Given the description of an element on the screen output the (x, y) to click on. 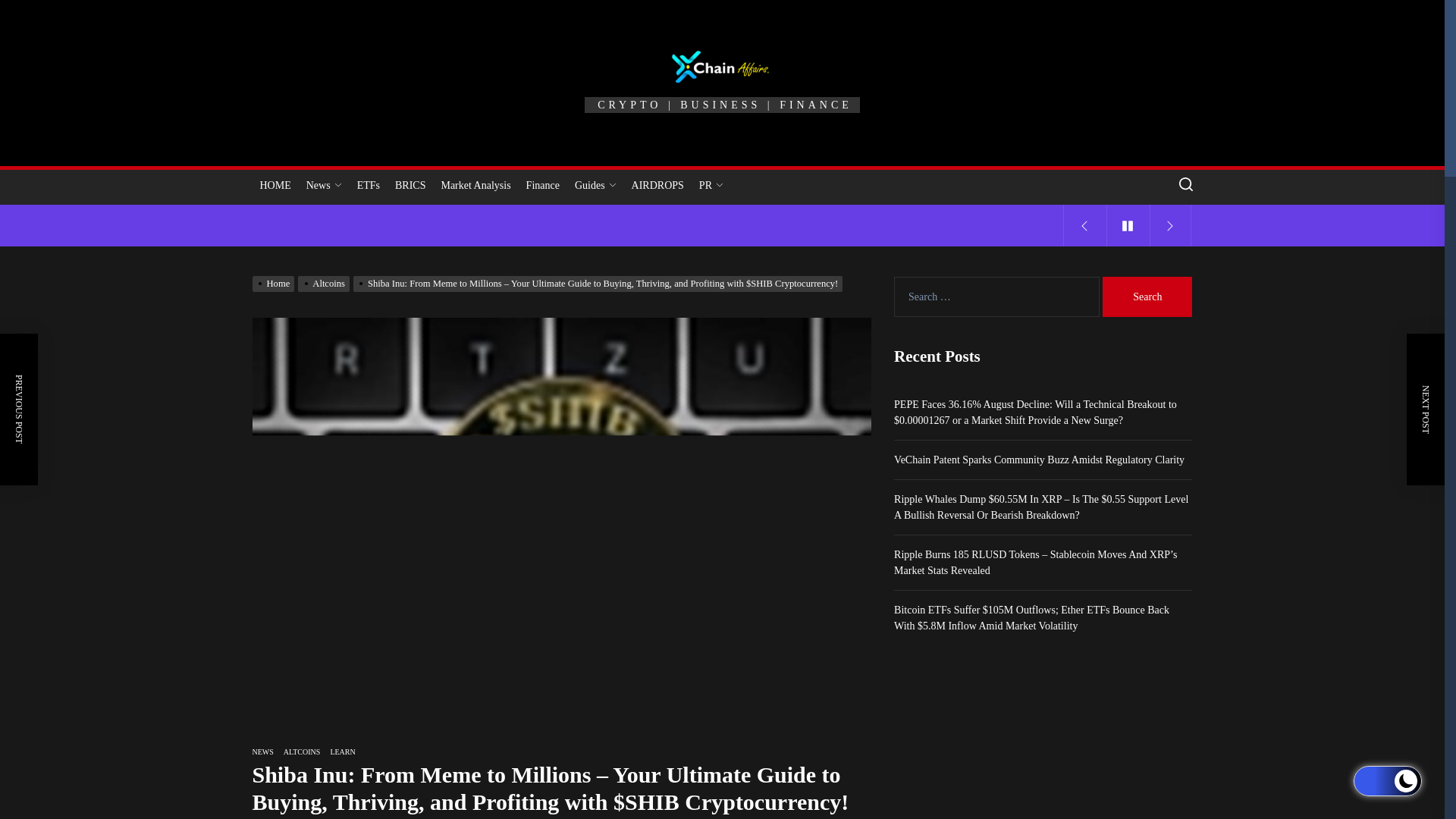
PR (710, 185)
Search (1147, 296)
HOME (274, 185)
BRICS (409, 185)
Market Analysis (475, 185)
AIRDROPS (657, 185)
ALTCOINS (301, 751)
Guides (595, 185)
Home (274, 283)
ETFs (368, 185)
